Given the description of an element on the screen output the (x, y) to click on. 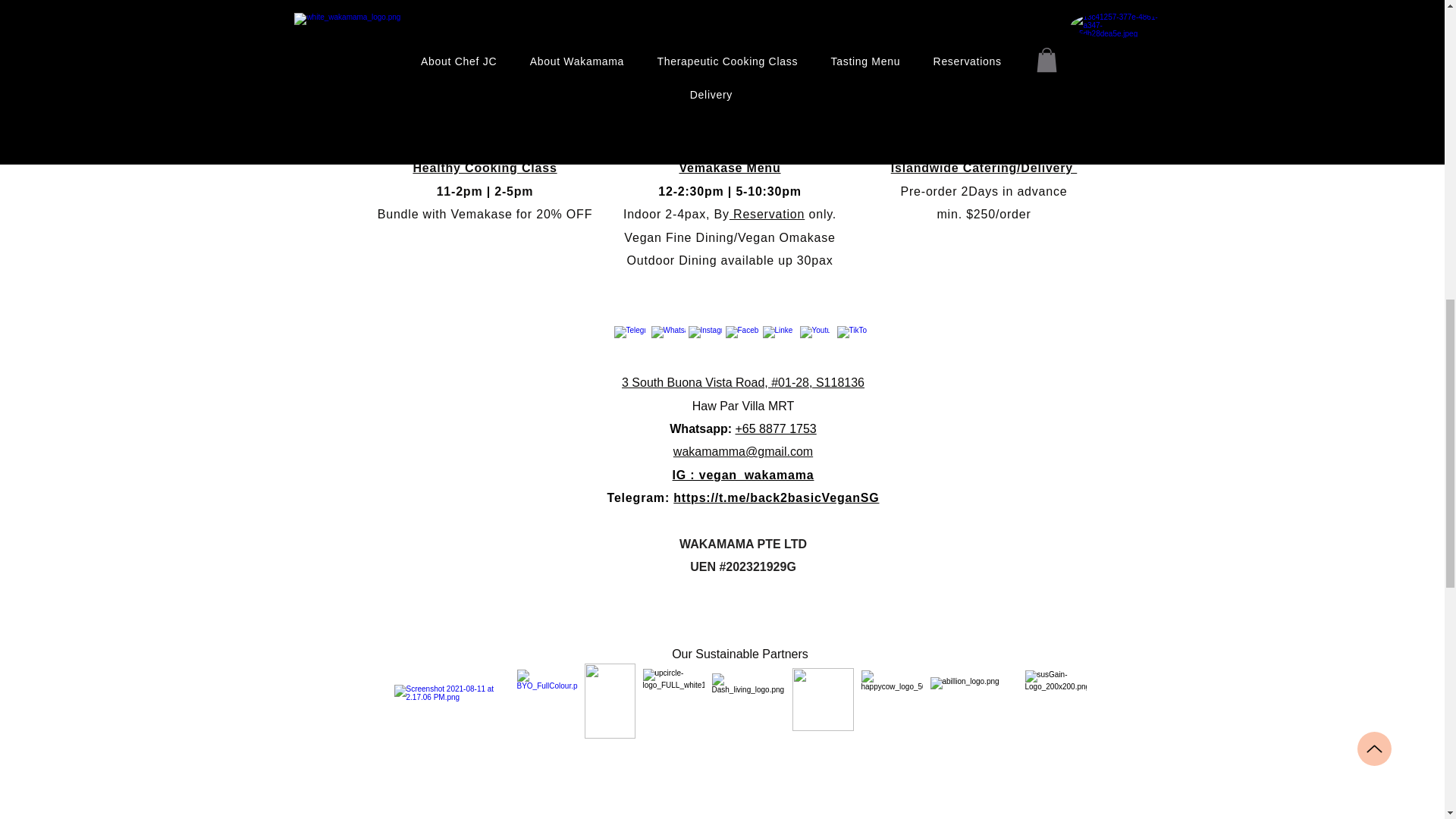
Vemakase Menu (729, 167)
Healthy Cooking Class (484, 167)
Reservation (767, 214)
